Given the description of an element on the screen output the (x, y) to click on. 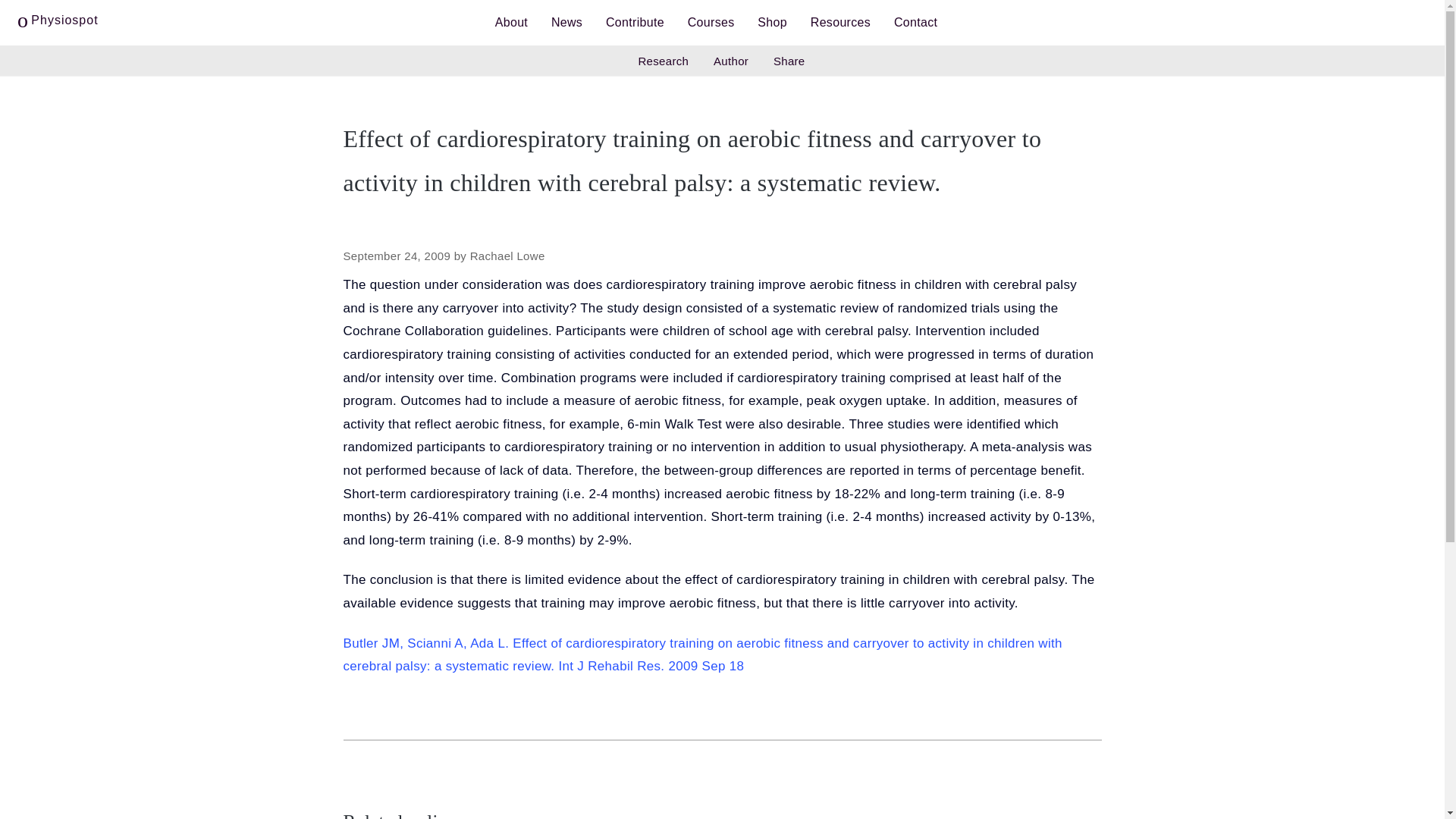
Contribute (634, 22)
News (566, 22)
Courses (711, 22)
Research (662, 60)
Resources (840, 22)
oPhysiospot (57, 17)
Contact (915, 22)
About (510, 22)
Shop (772, 22)
Author (730, 60)
